Given the description of an element on the screen output the (x, y) to click on. 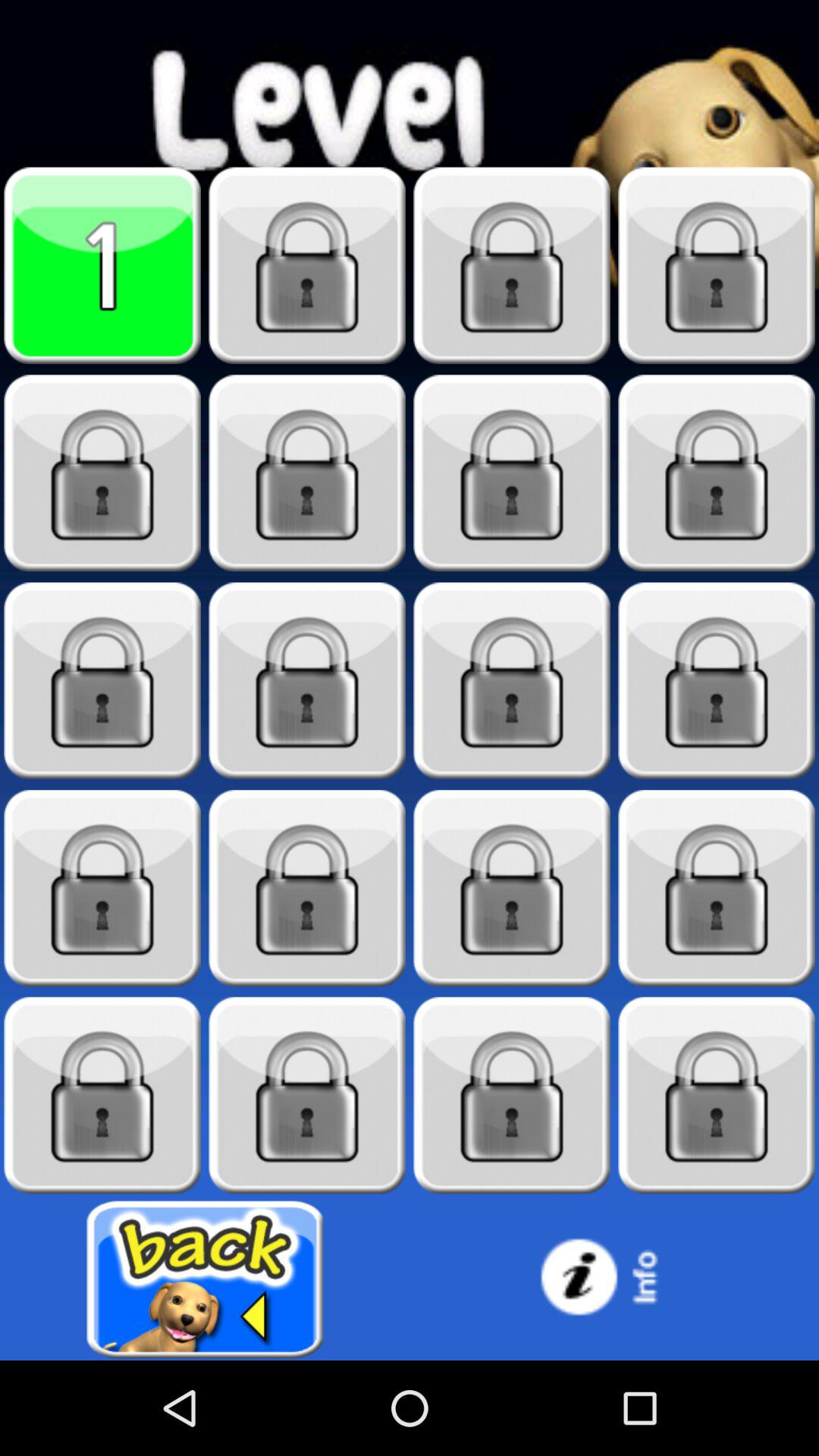
click to unlock (511, 1094)
